Given the description of an element on the screen output the (x, y) to click on. 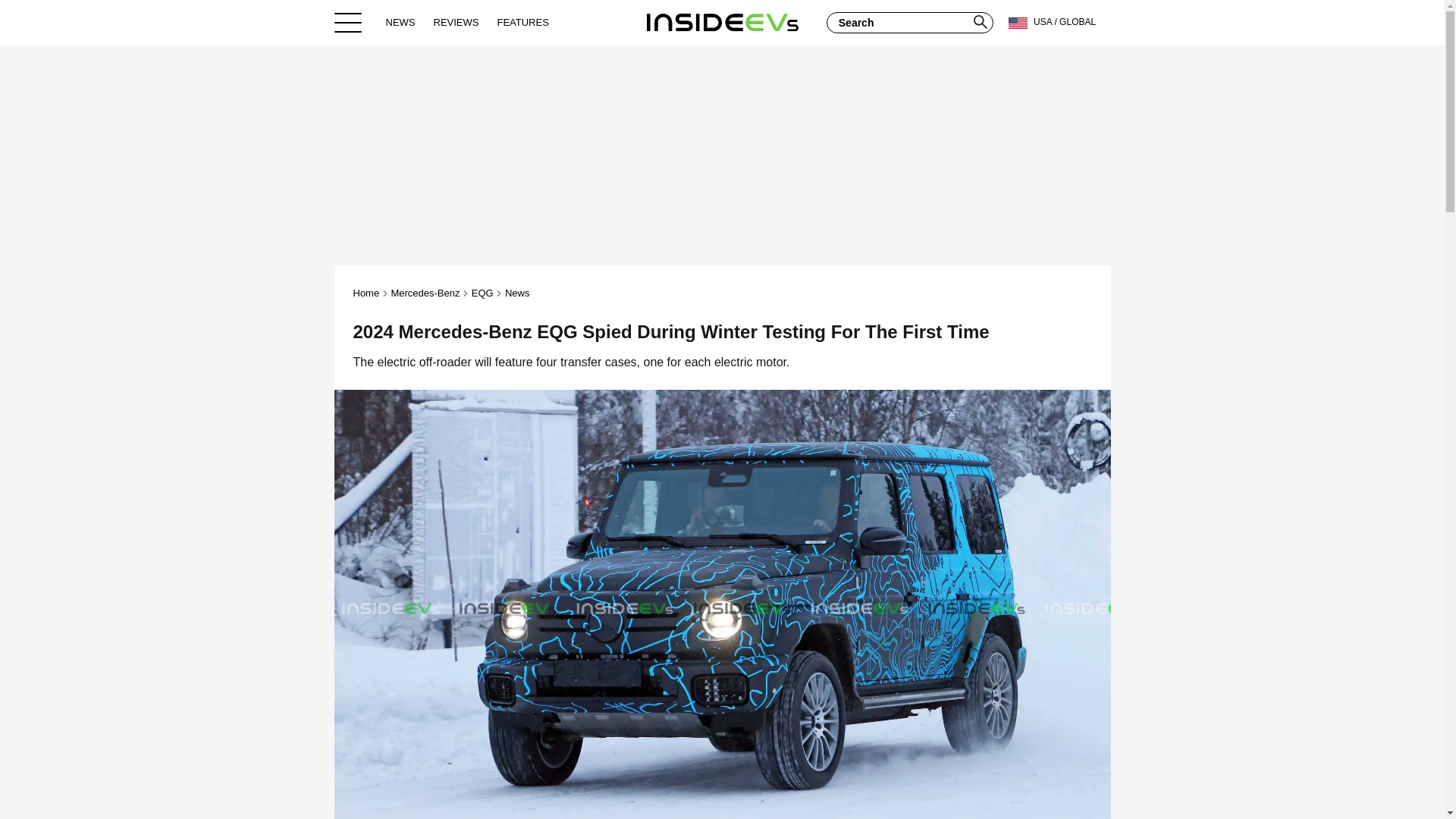
REVIEWS (456, 22)
Home (721, 22)
Mercedes-Benz (425, 292)
News (517, 292)
FEATURES (522, 22)
NEWS (399, 22)
Home (366, 293)
EQG (482, 292)
